Given the description of an element on the screen output the (x, y) to click on. 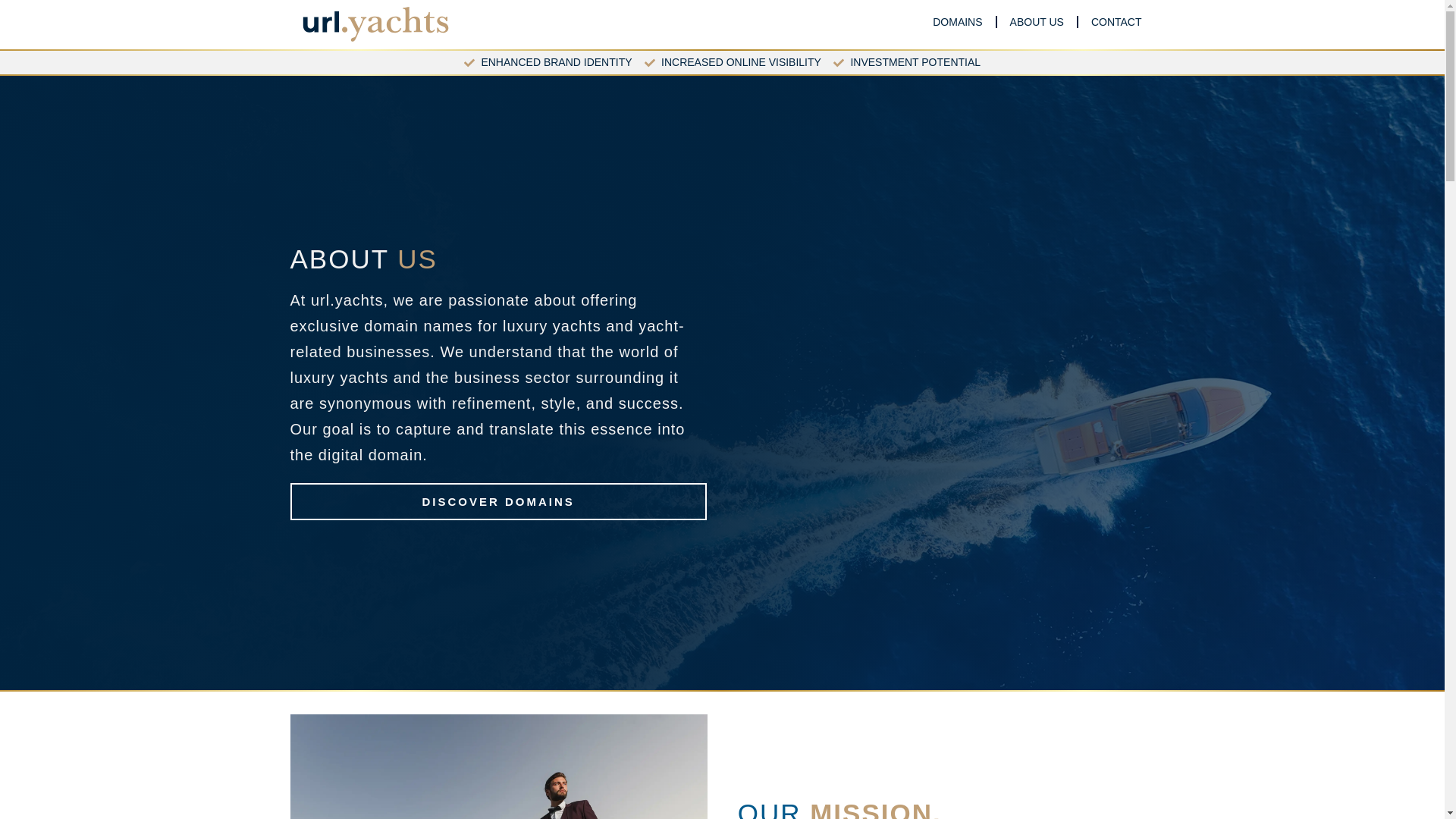
DOMAINS (957, 21)
DISCOVER DOMAINS (497, 501)
ABOUT US (1037, 21)
CONTACT (1116, 21)
